Given the description of an element on the screen output the (x, y) to click on. 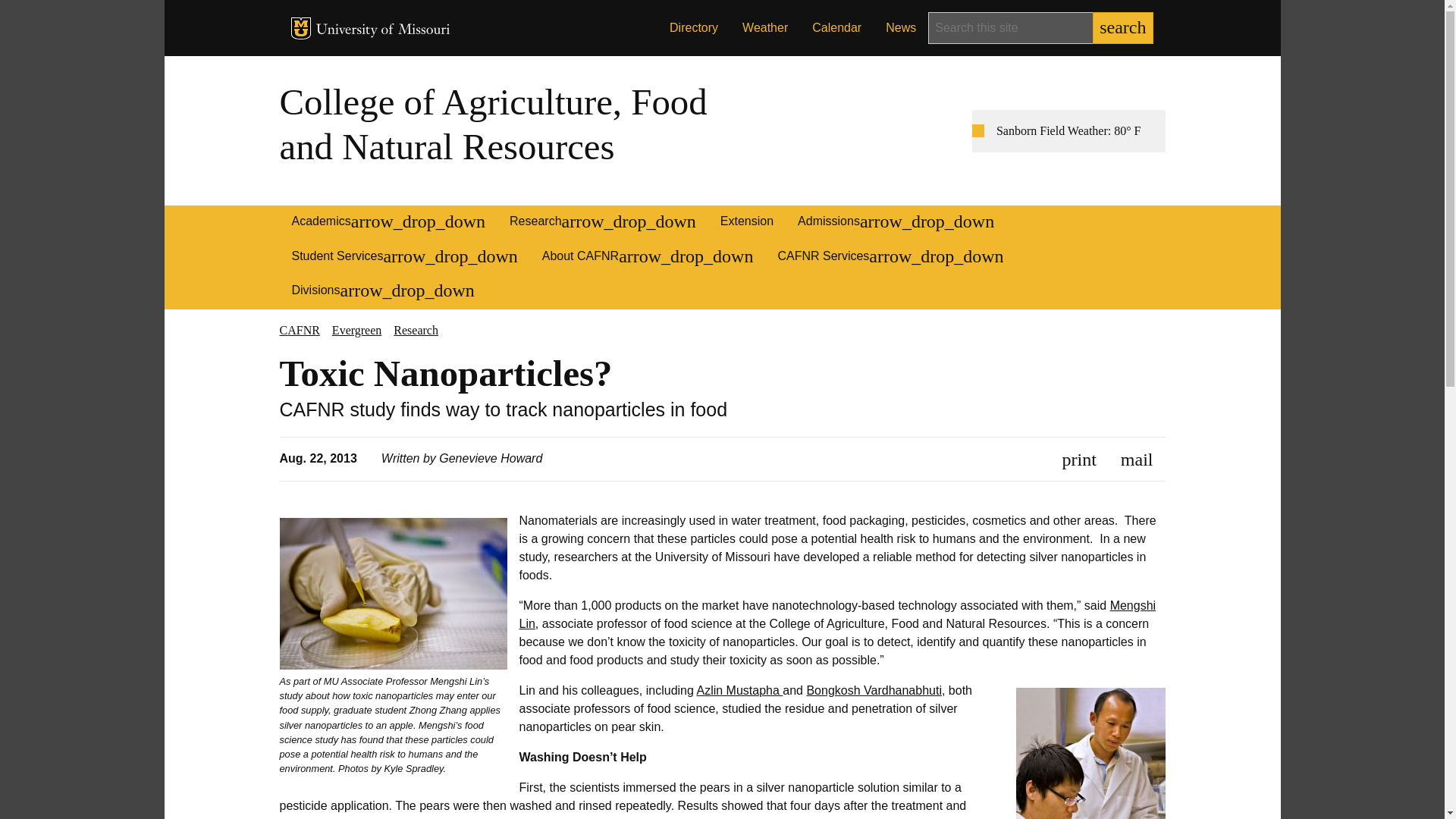
Weather (764, 28)
search (1123, 28)
Email (1137, 458)
University of Missouri (382, 30)
MU Logo (301, 27)
Print (1079, 458)
News (900, 28)
Calendar (836, 28)
Extension (746, 222)
College of Agriculture, Food and Natural Resources (492, 124)
Directory (694, 28)
College of Agriculture, Food and Natural Resources (492, 124)
